Given the description of an element on the screen output the (x, y) to click on. 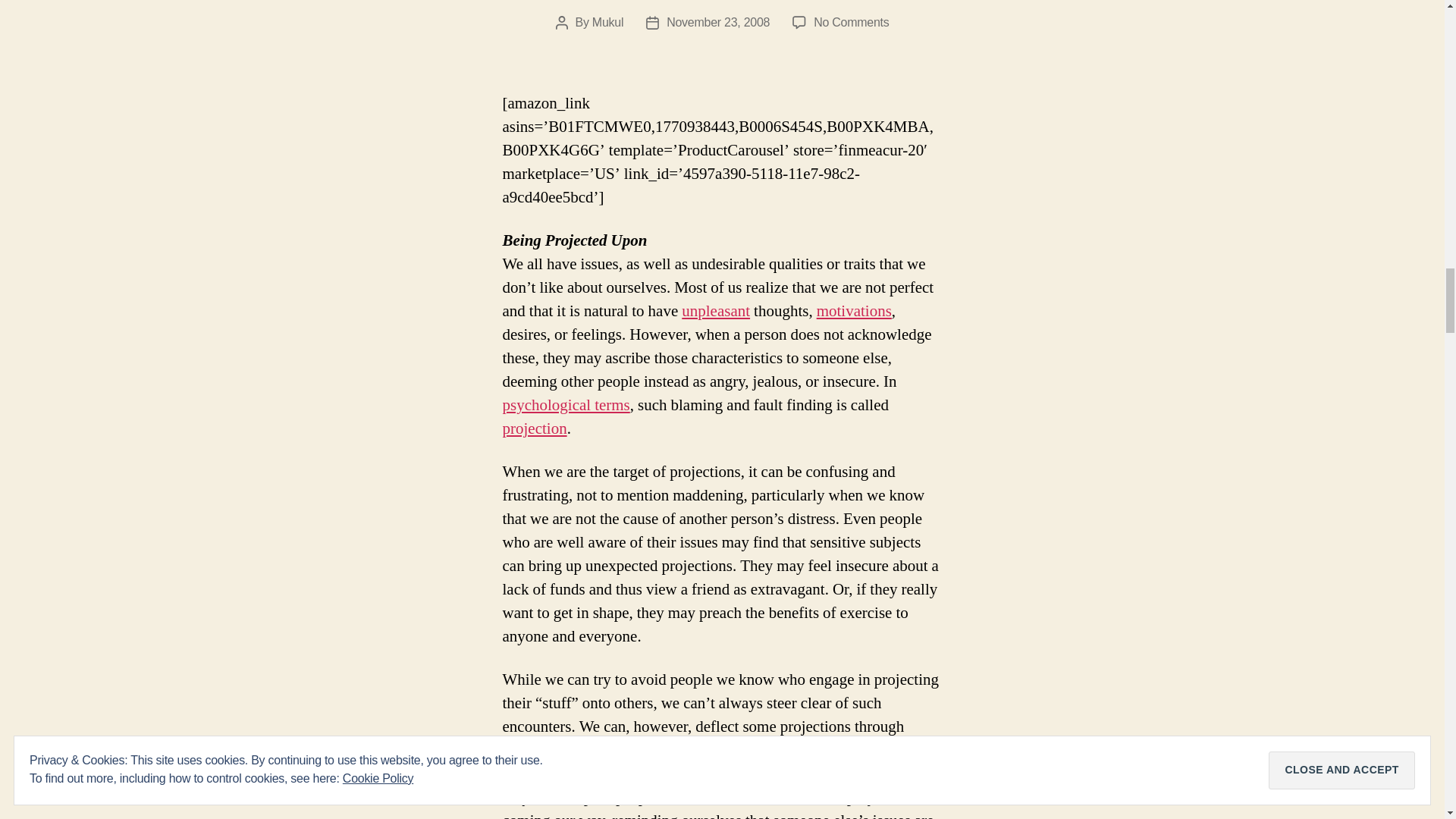
Map projection (534, 428)
Suffering (715, 311)
Motivation (853, 311)
Psychology (565, 404)
